Given the description of an element on the screen output the (x, y) to click on. 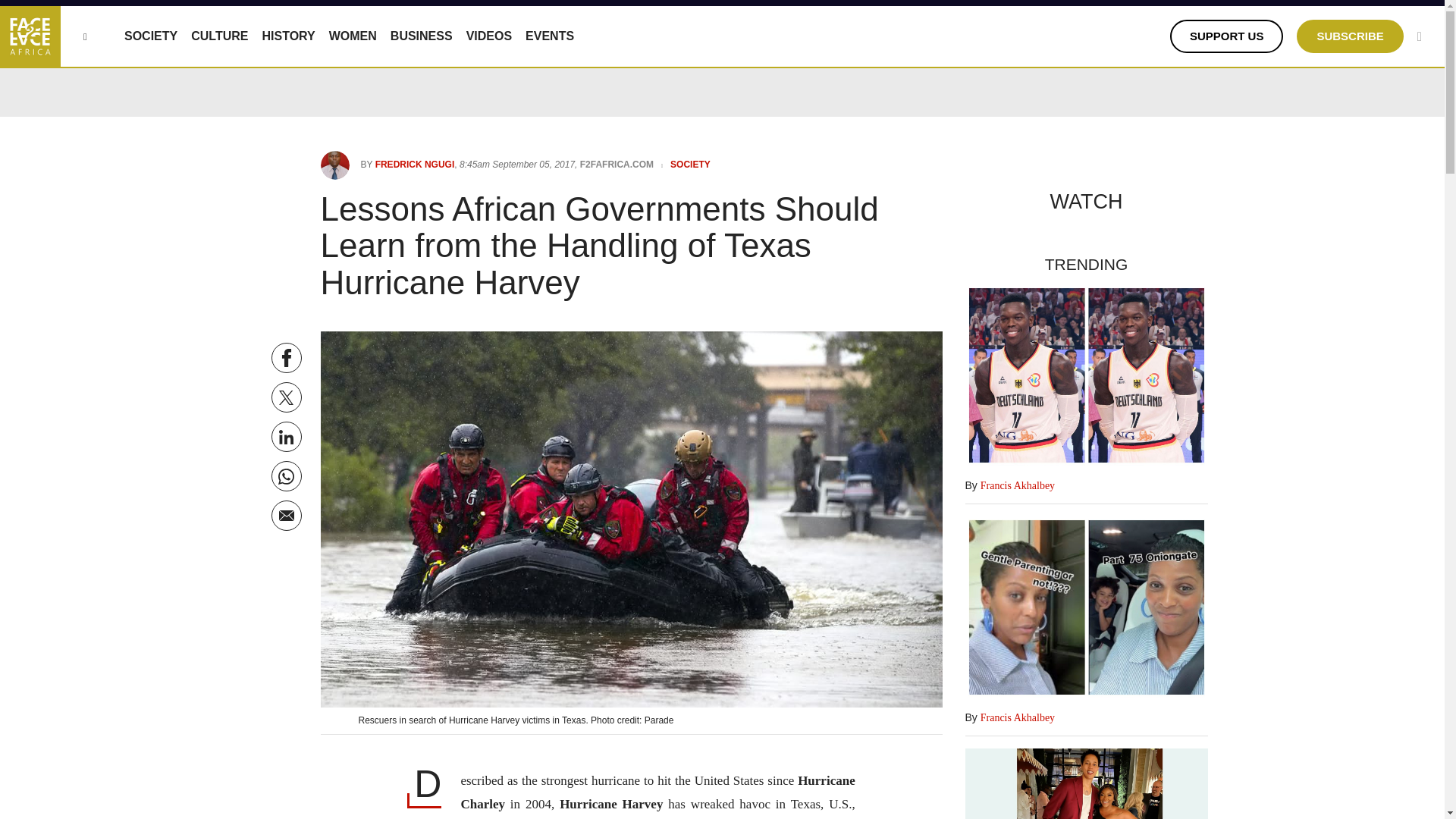
SUPPORT US (1227, 36)
VIDEOS (488, 35)
SUBSCRIBE (1350, 36)
WOMEN (353, 35)
EVENTS (549, 35)
HISTORY (288, 35)
CULTURE (218, 35)
SOCIETY (150, 35)
BUSINESS (421, 35)
